Given the description of an element on the screen output the (x, y) to click on. 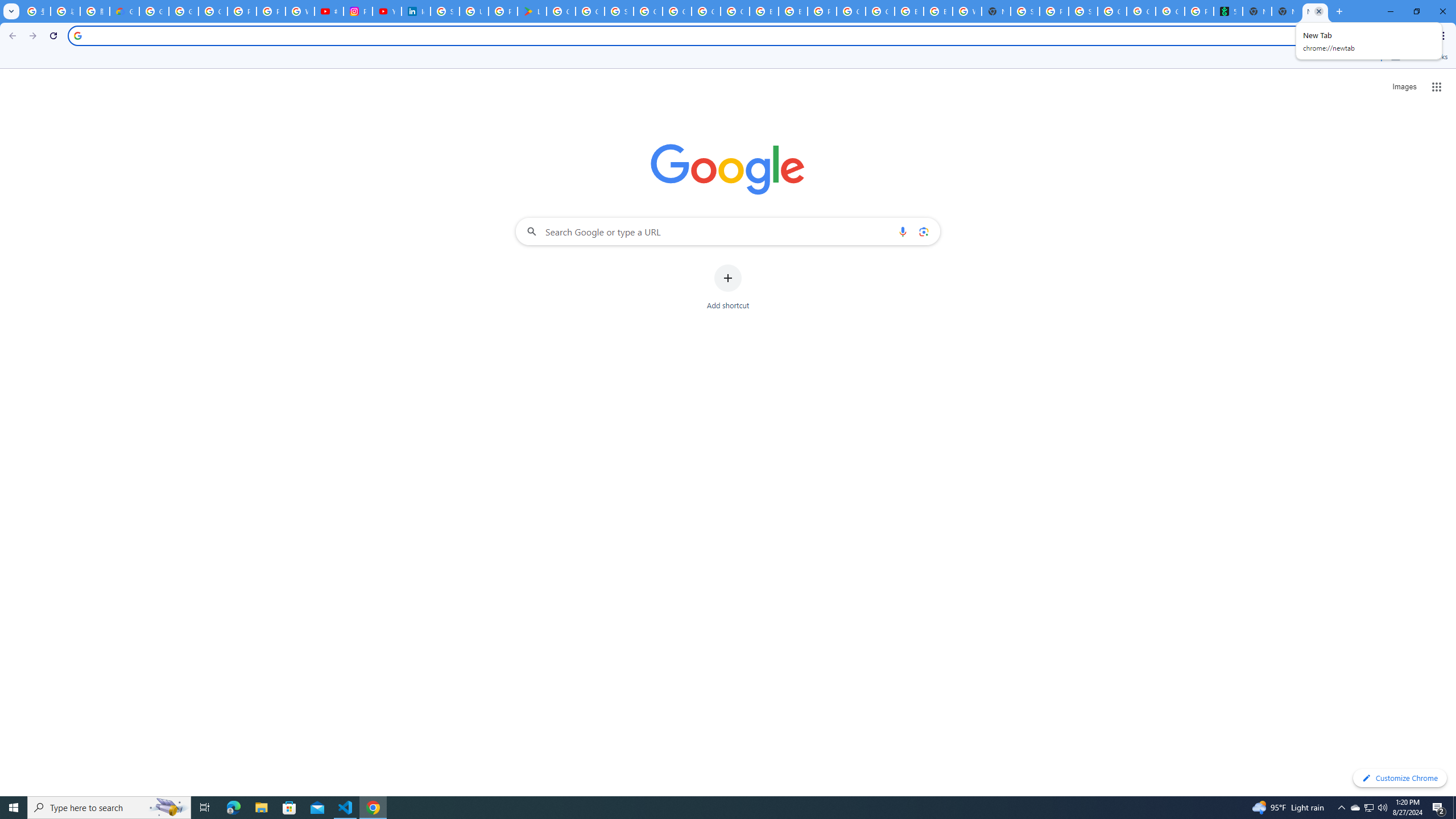
Browse Chrome as a guest - Computer - Google Chrome Help (792, 11)
Browse Chrome as a guest - Computer - Google Chrome Help (938, 11)
Customize Chrome (1399, 778)
Browse Chrome as a guest - Computer - Google Chrome Help (763, 11)
Search Google or type a URL (727, 230)
Add shortcut (727, 287)
